Given the description of an element on the screen output the (x, y) to click on. 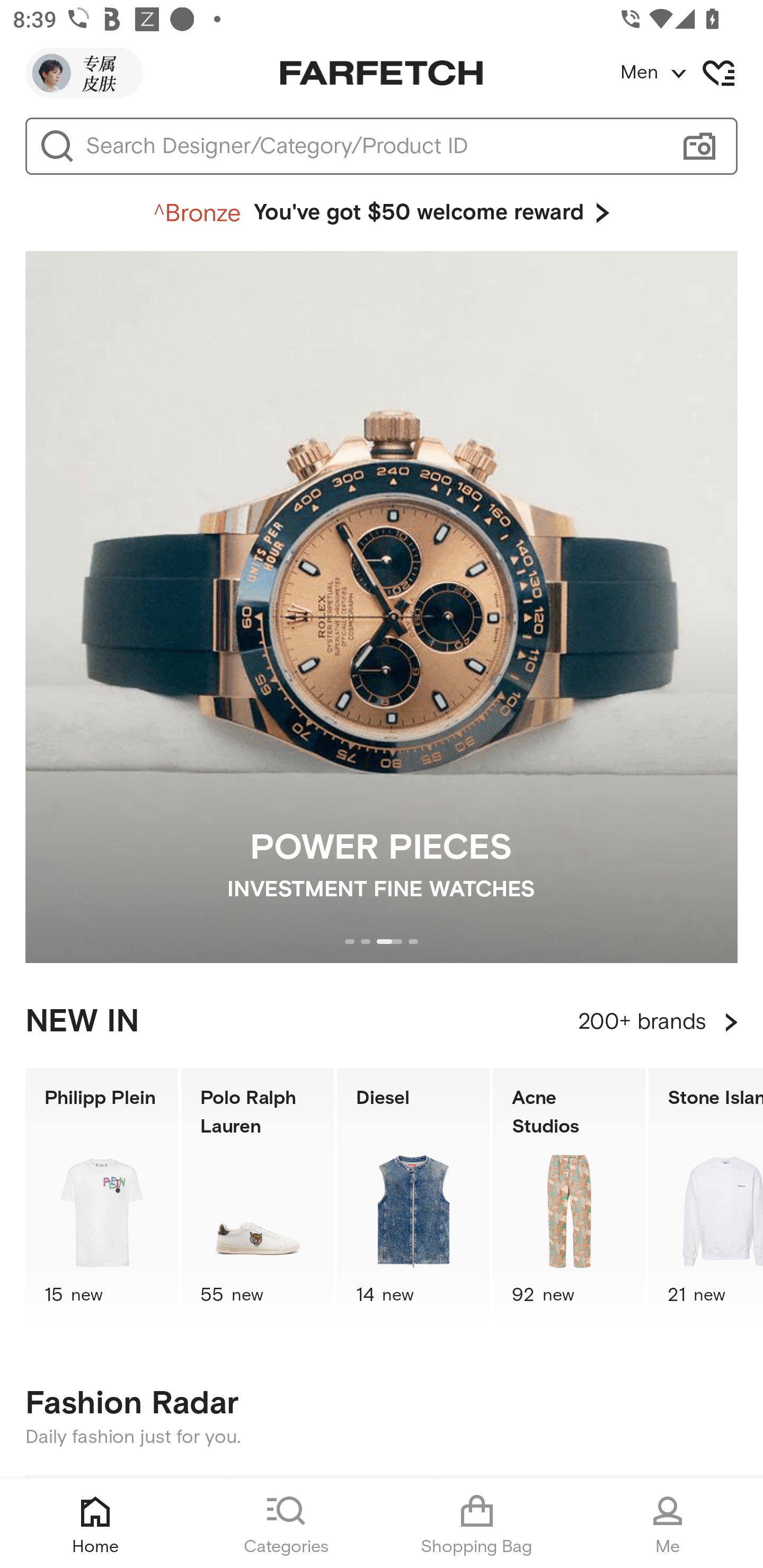
Men (691, 72)
Search Designer/Category/Product ID (373, 146)
You've got $50 welcome reward (381, 213)
NEW IN 200+ brands (381, 1021)
Philipp Plein 15  new (101, 1196)
Polo Ralph Lauren 55  new (257, 1196)
Diesel 14  new (413, 1196)
Acne Studios 92  new (568, 1196)
Stone Island 21  new (705, 1196)
Categories (285, 1523)
Shopping Bag (476, 1523)
Me (667, 1523)
